Given the description of an element on the screen output the (x, y) to click on. 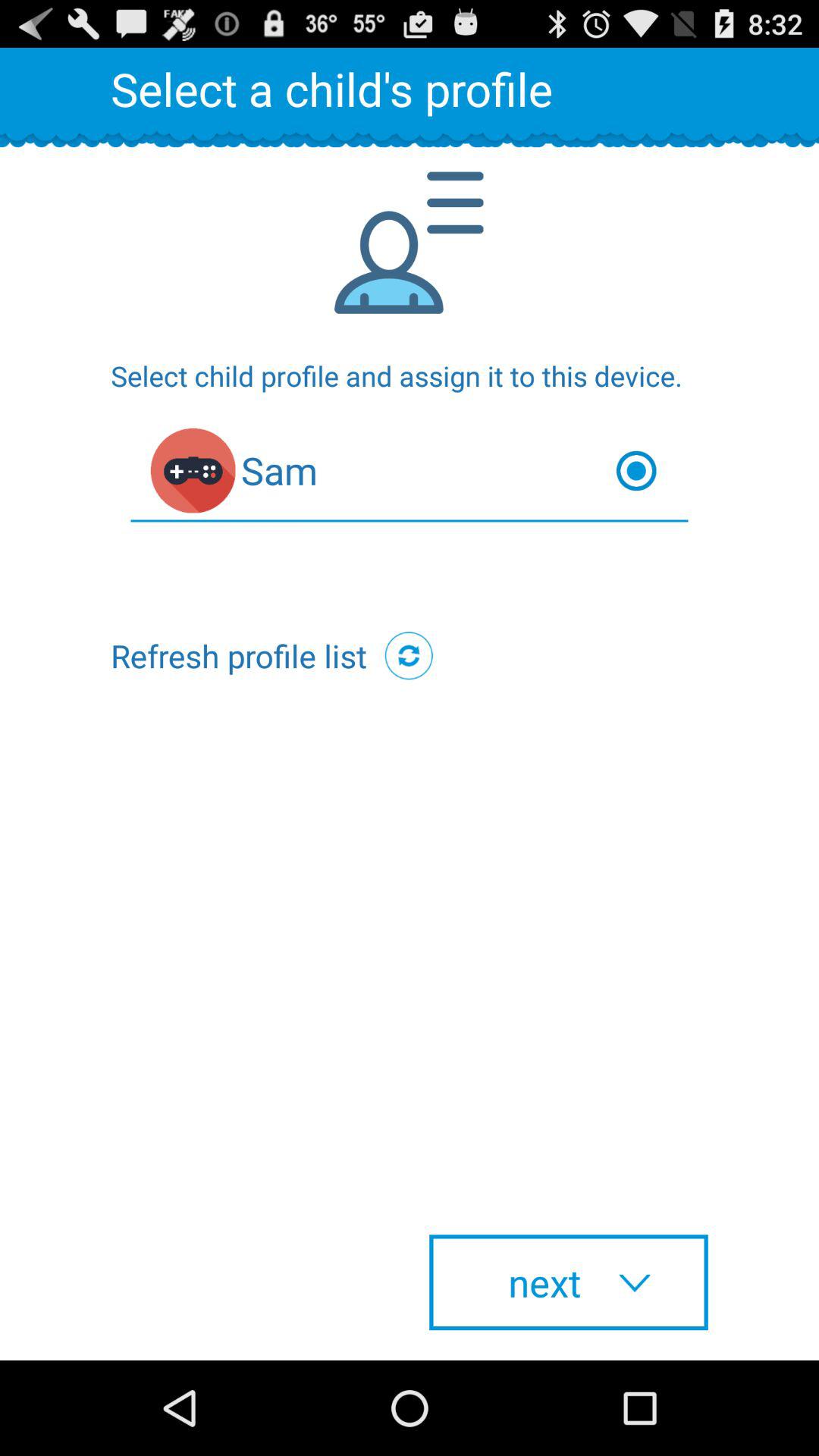
jump until next item (568, 1282)
